Given the description of an element on the screen output the (x, y) to click on. 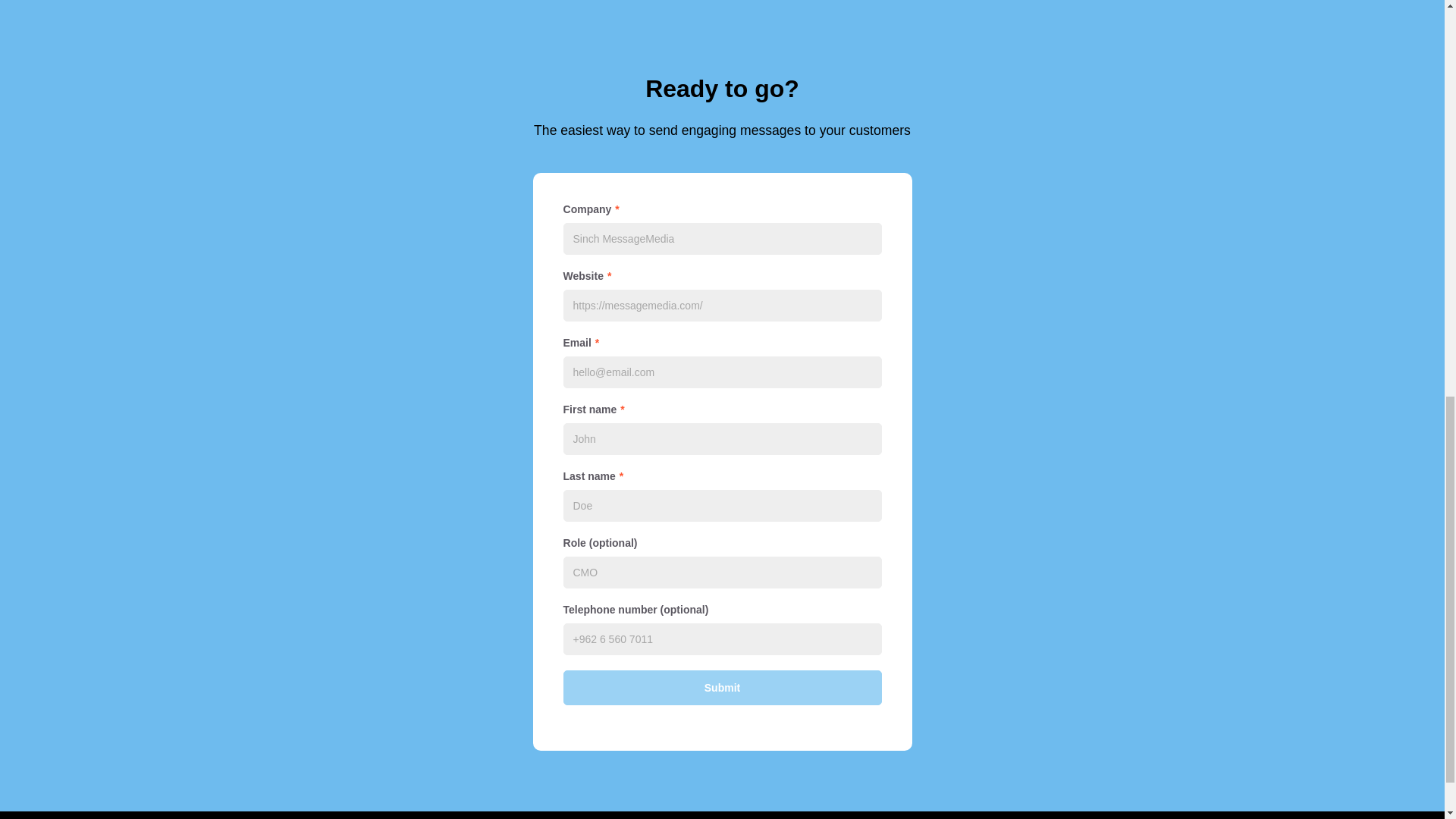
Submit (721, 687)
